Given the description of an element on the screen output the (x, y) to click on. 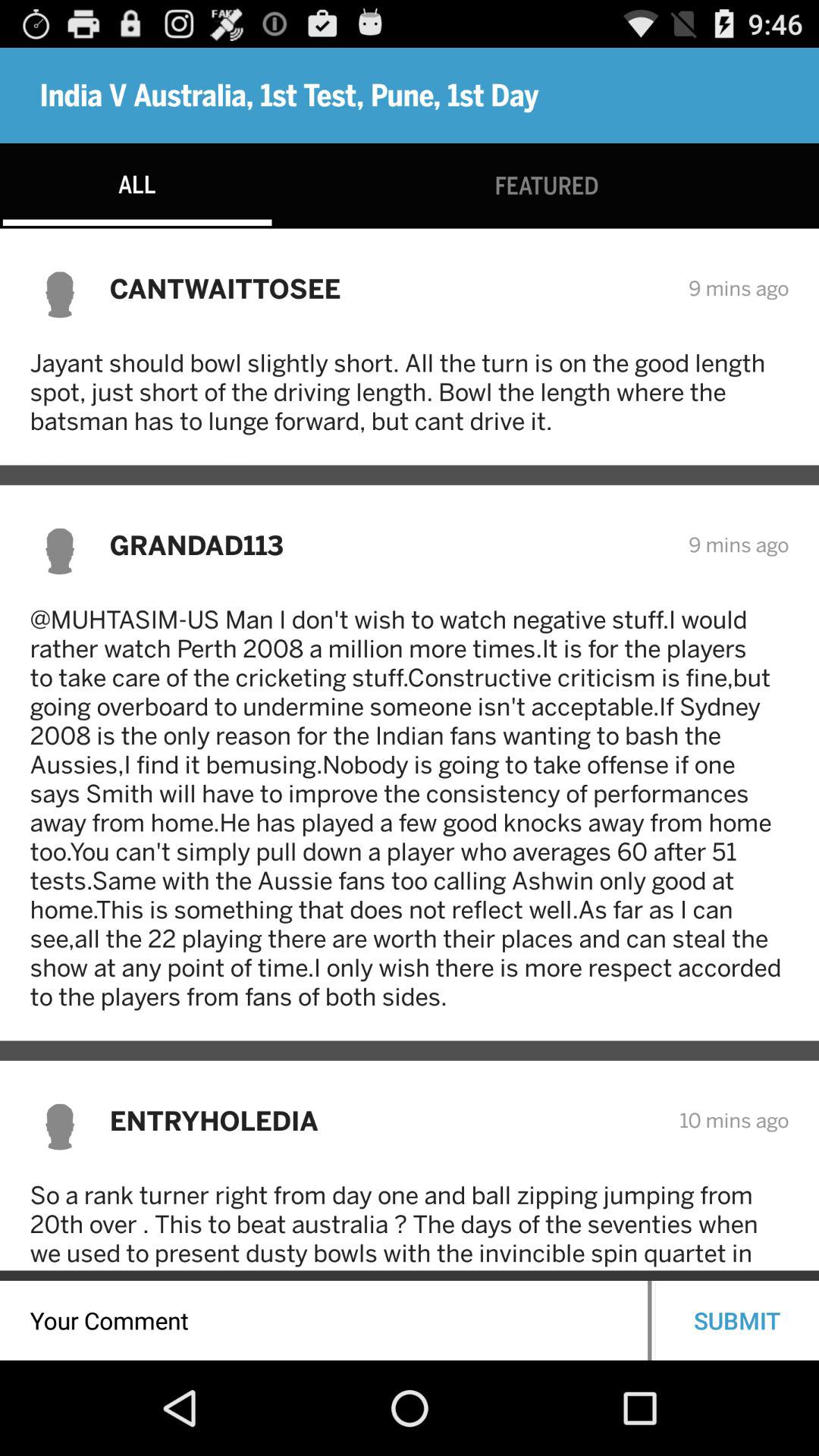
swipe until the featured icon (546, 185)
